Given the description of an element on the screen output the (x, y) to click on. 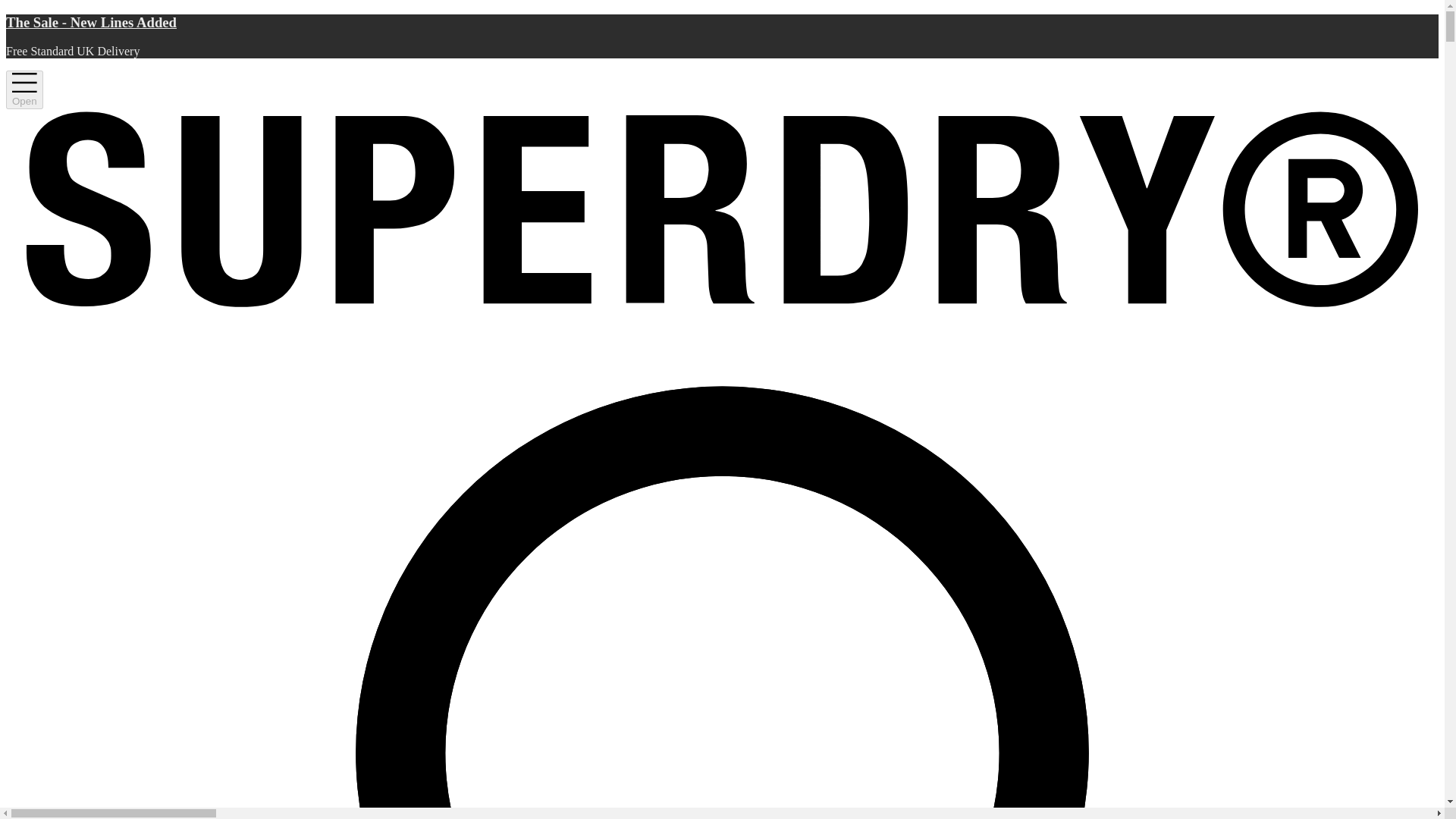
Open (24, 89)
The Sale - New Lines Added (721, 22)
Open (24, 89)
Hamburger (24, 89)
